Given the description of an element on the screen output the (x, y) to click on. 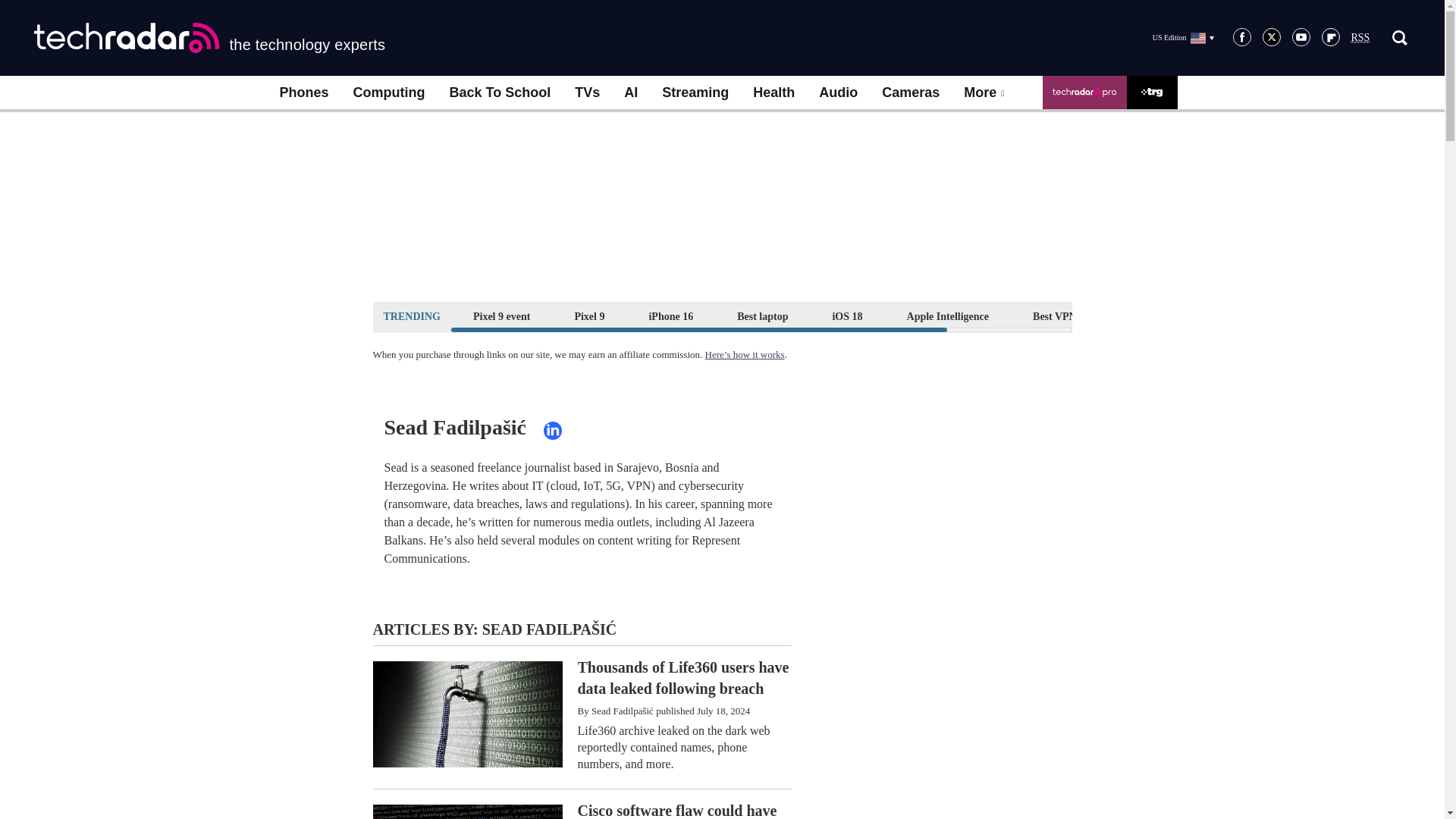
the technology experts (209, 38)
TVs (586, 92)
Computing (389, 92)
AI (630, 92)
Really Simple Syndication (1360, 37)
Cameras (910, 92)
Streaming (695, 92)
Phones (303, 92)
Back To School (499, 92)
US Edition (1182, 37)
